Given the description of an element on the screen output the (x, y) to click on. 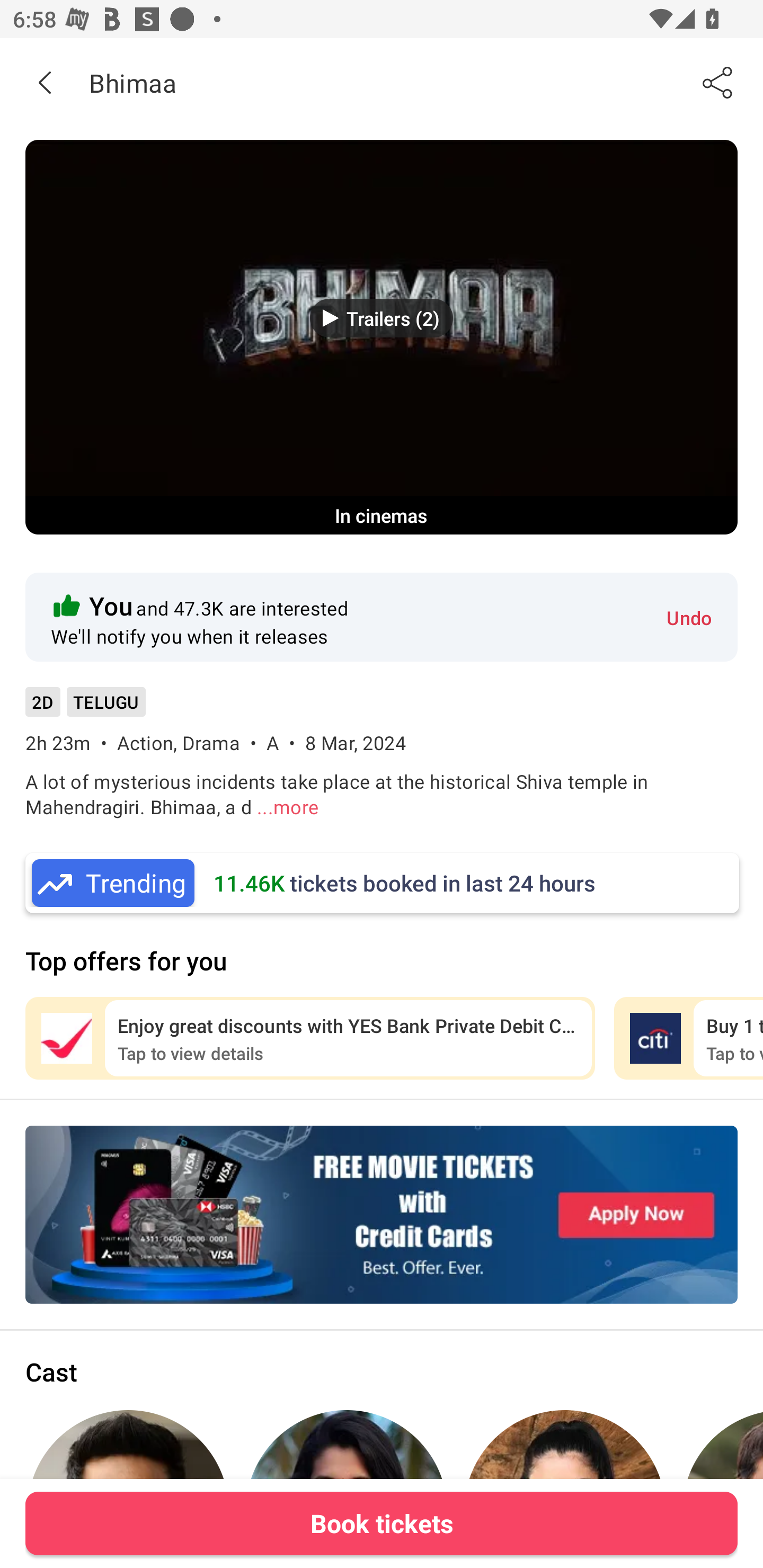
Back (44, 82)
Share (718, 82)
Movie Banner Trailers (2) In cinemas (381, 336)
Trailers (2) (381, 318)
Undo (688, 616)
2D TELUGU (85, 707)
Book tickets (381, 1523)
